Given the description of an element on the screen output the (x, y) to click on. 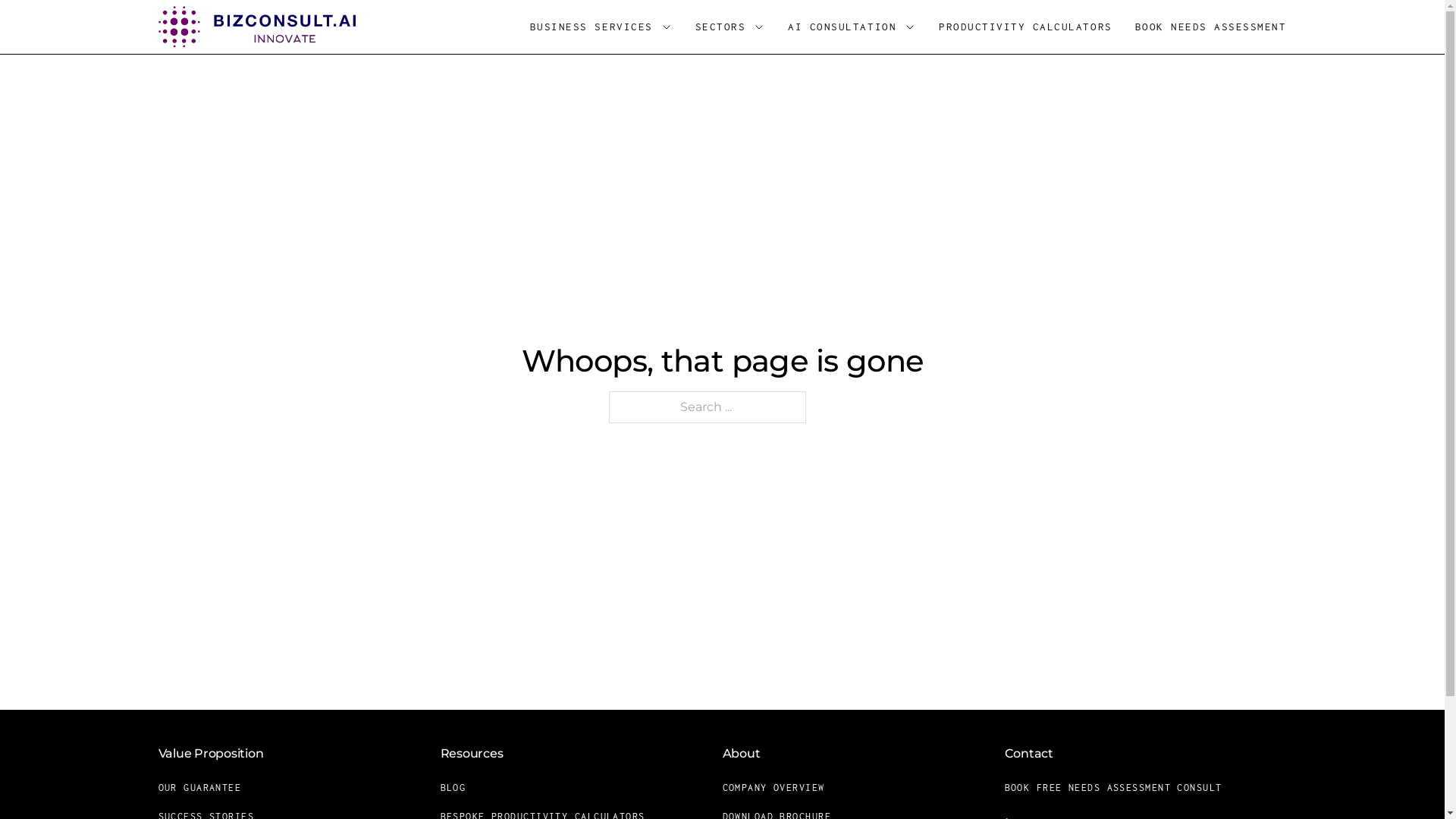
BLOG Element type: text (462, 787)
OUR GUARANTEE Element type: text (208, 787)
COMPANY OVERVIEW Element type: text (782, 787)
BUSINESS SERVICES Element type: text (591, 26)
BOOK FREE NEEDS ASSESSMENT CONSULT Element type: text (1122, 787)
BOOK NEEDS ASSESSMENT Element type: text (1210, 26)
PRODUCTIVITY CALCULATORS Element type: text (1024, 26)
SECTORS Element type: text (720, 26)
AI CONSULTATION Element type: text (841, 26)
